Given the description of an element on the screen output the (x, y) to click on. 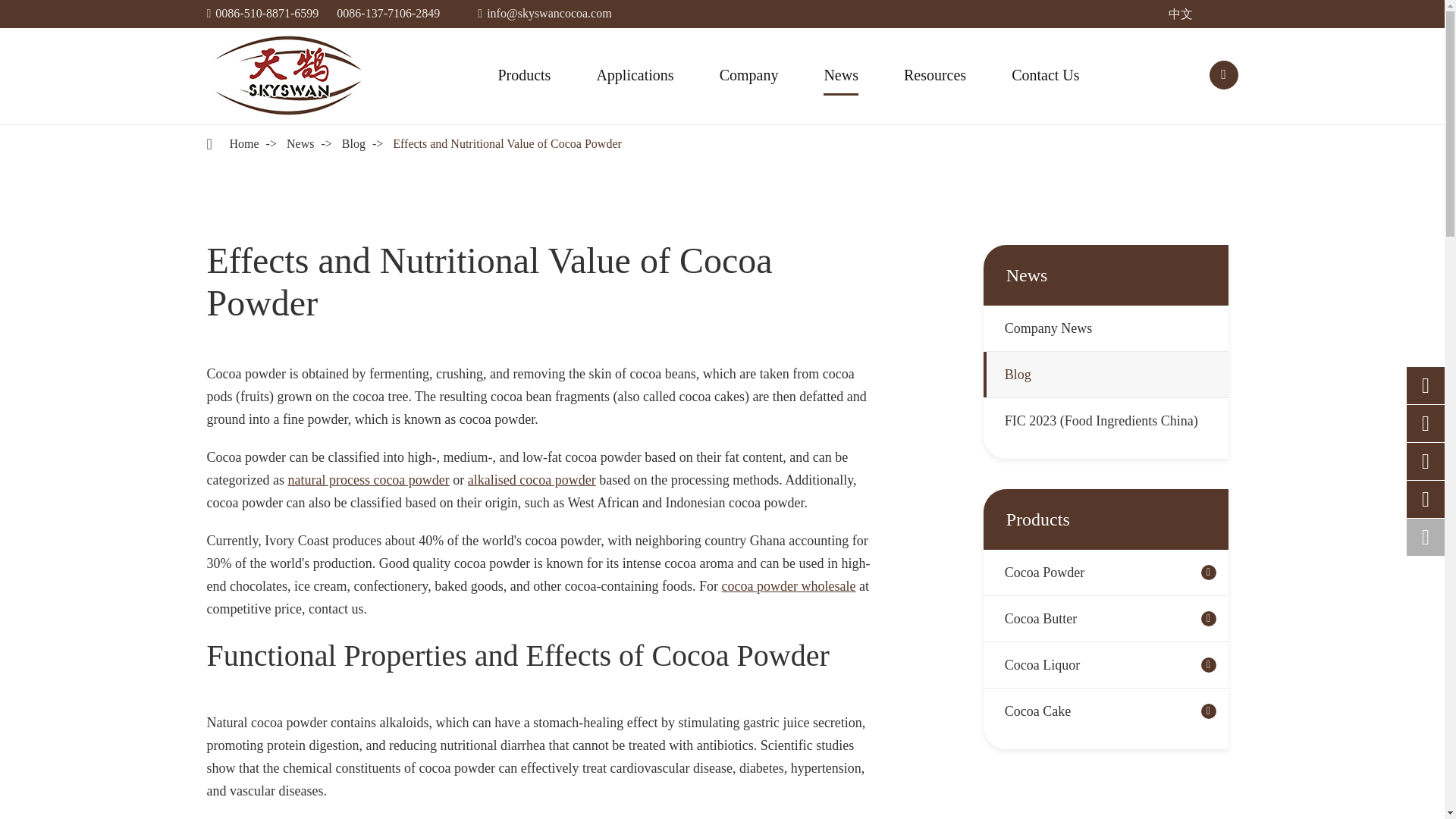
Blog (353, 143)
Effects and Nutritional Value of Cocoa Powder (507, 143)
0086-510-8871-6599 (266, 12)
News (300, 143)
0086-137-7106-2849 (387, 12)
Applications (633, 75)
Wuxi Skyswan Food Technology Co., Ltd. (287, 74)
